Given the description of an element on the screen output the (x, y) to click on. 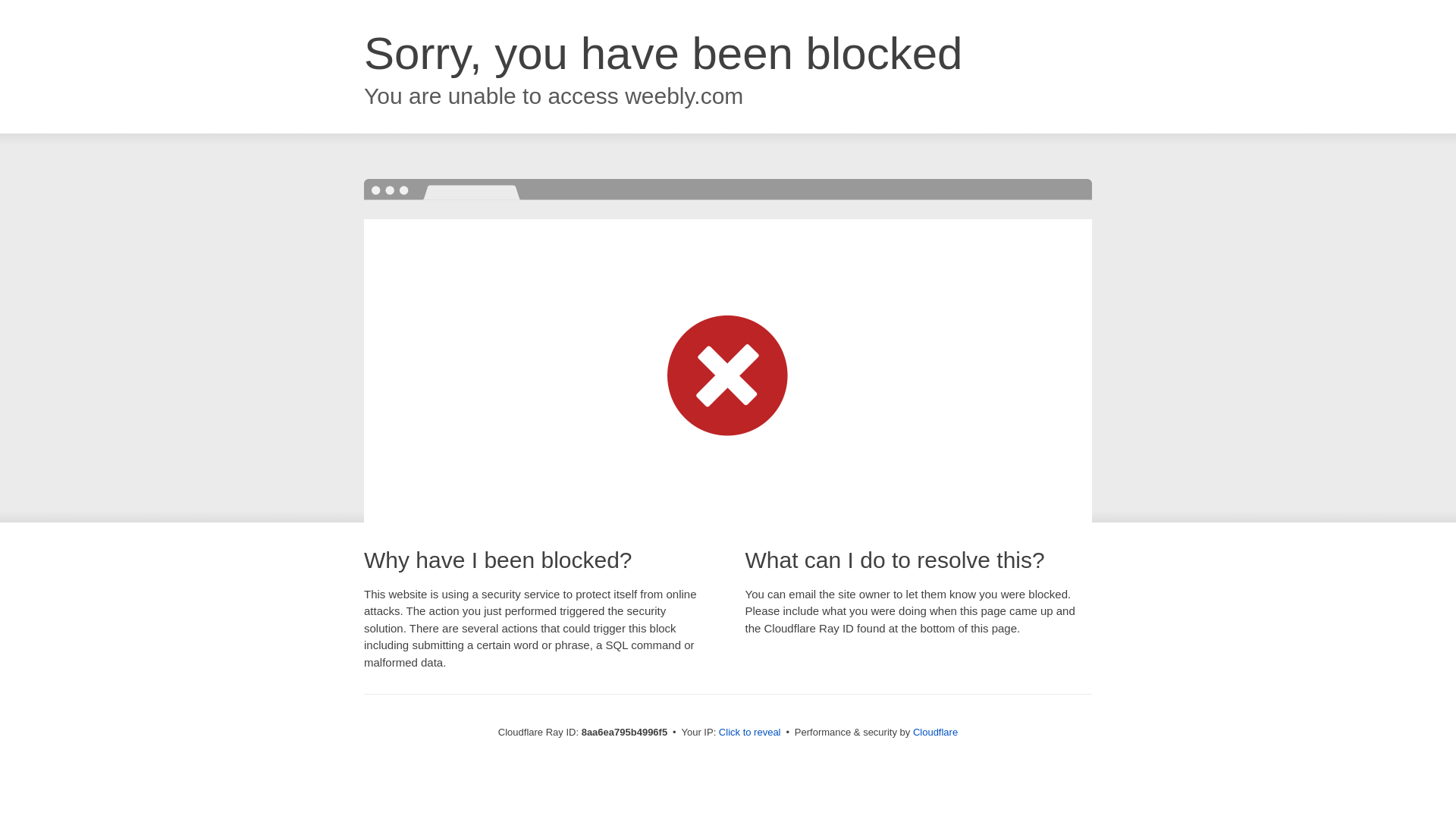
Cloudflare (935, 731)
Click to reveal (749, 732)
